Given the description of an element on the screen output the (x, y) to click on. 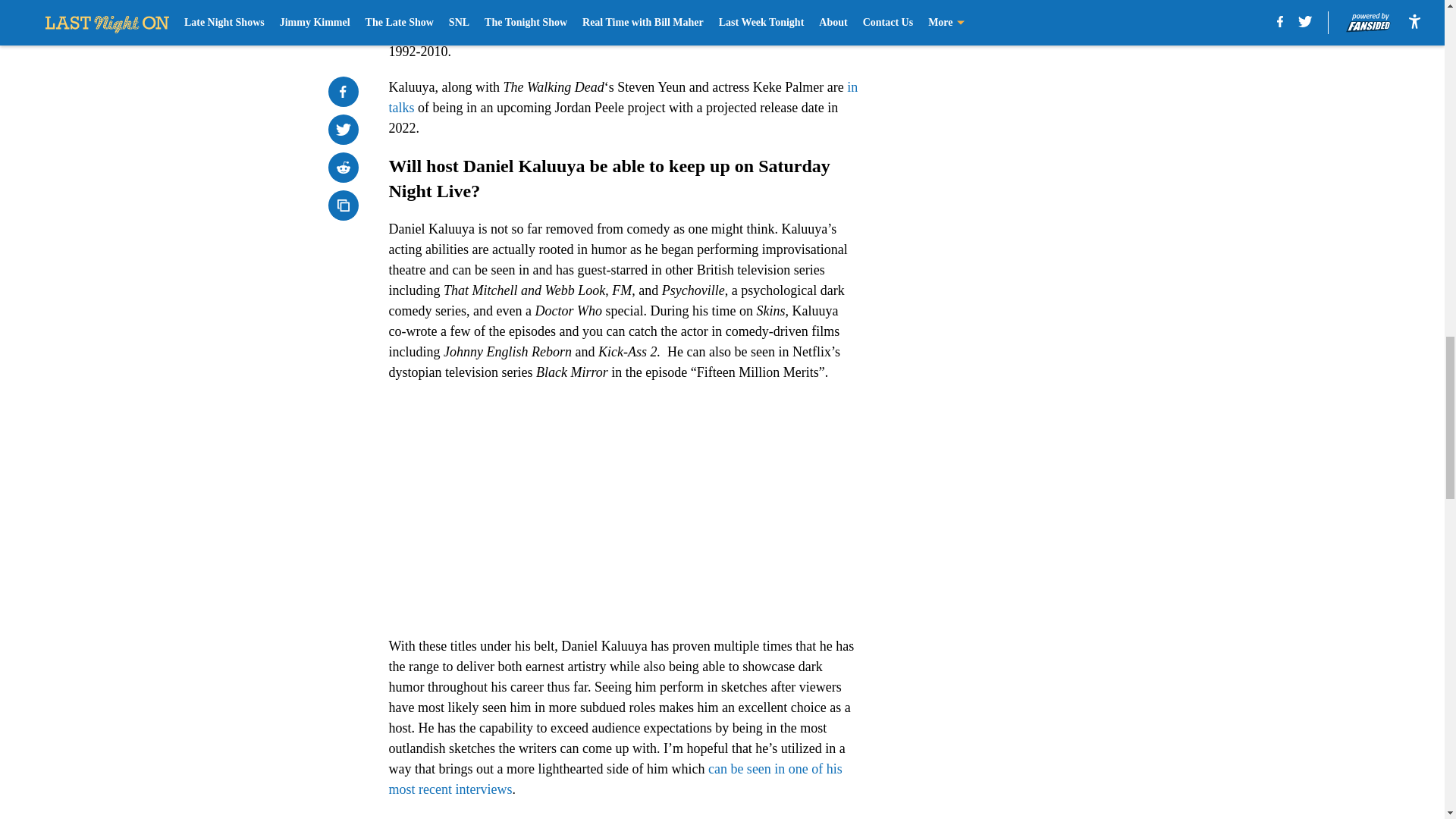
can be seen in one of his most recent interviews (614, 778)
in talks (622, 97)
